Given the description of an element on the screen output the (x, y) to click on. 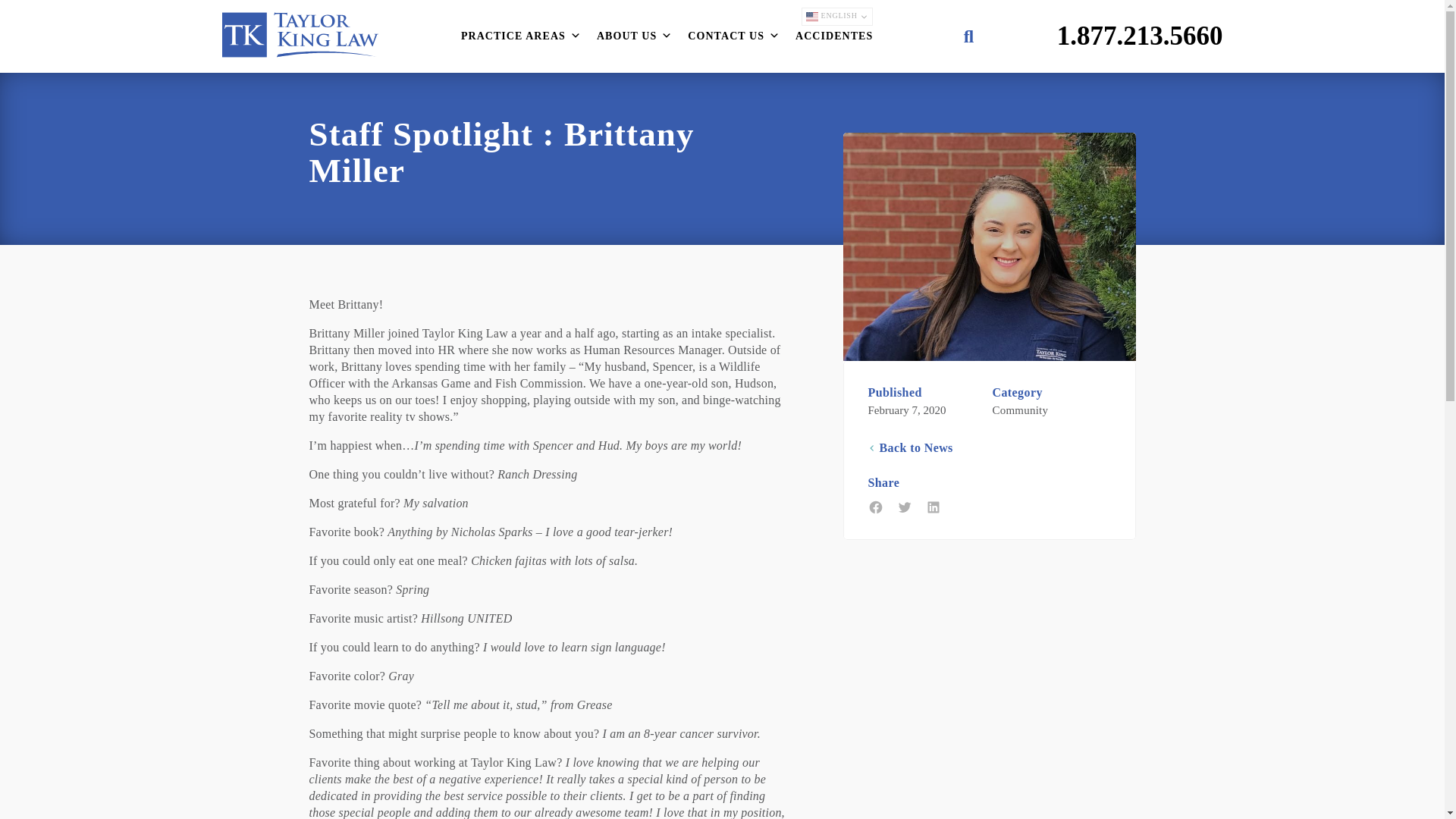
PRACTICE AREAS (525, 36)
